Given the description of an element on the screen output the (x, y) to click on. 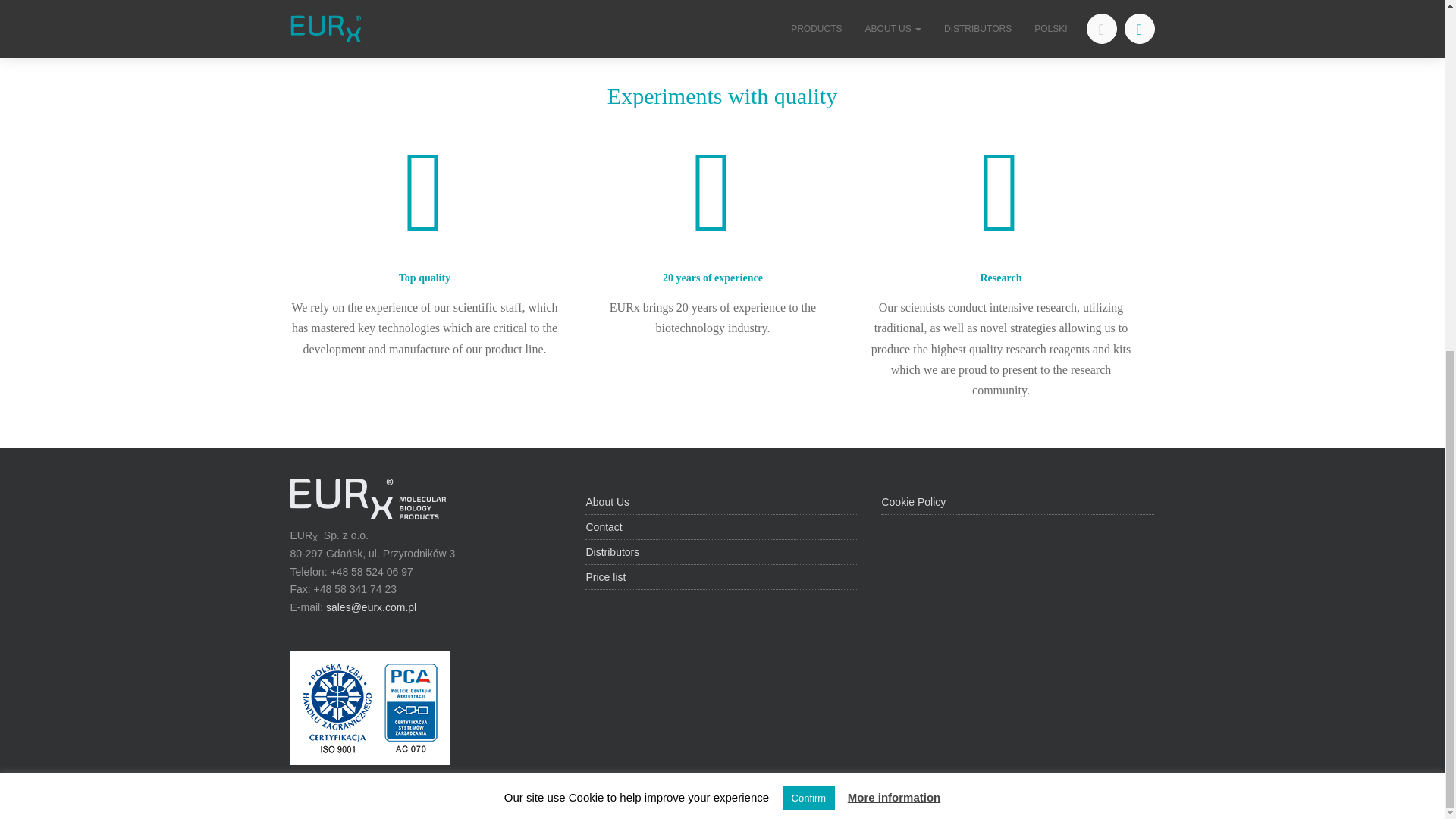
Contact (603, 526)
Distributors (612, 551)
Triplex ASFV Fast qPCR Kit (351, 19)
Cookie Policy (912, 501)
Price list (605, 576)
About Us (606, 501)
Confirm (809, 187)
More information (893, 186)
